Given the description of an element on the screen output the (x, y) to click on. 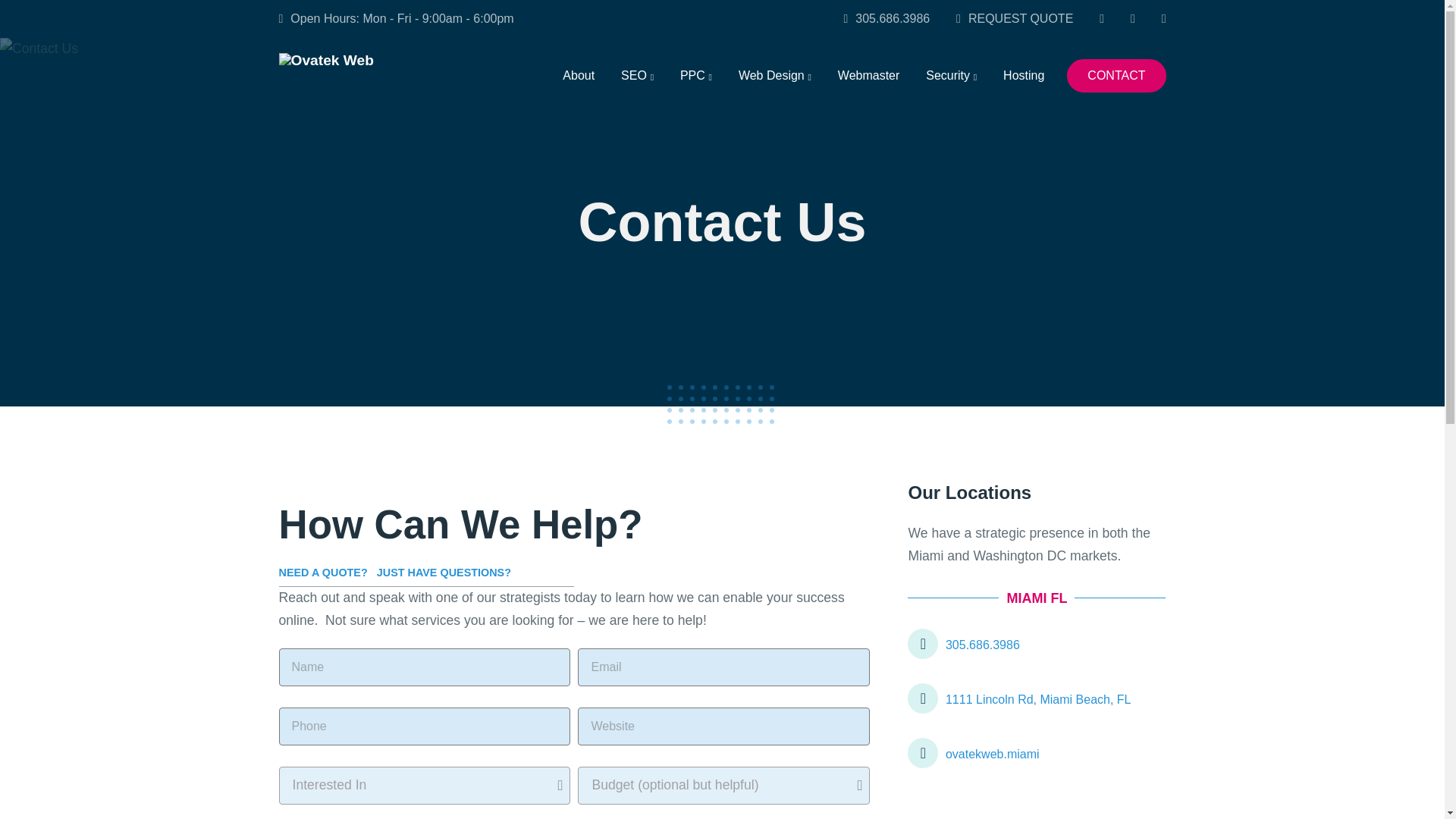
SEO (637, 75)
305.686.3986 (1036, 643)
Hosting (1023, 75)
Webmaster (869, 75)
Security (951, 75)
ovatekweb.miami (1036, 752)
305.686.3986 (885, 19)
About (578, 75)
Web Design (774, 75)
PPC (695, 75)
